Given the description of an element on the screen output the (x, y) to click on. 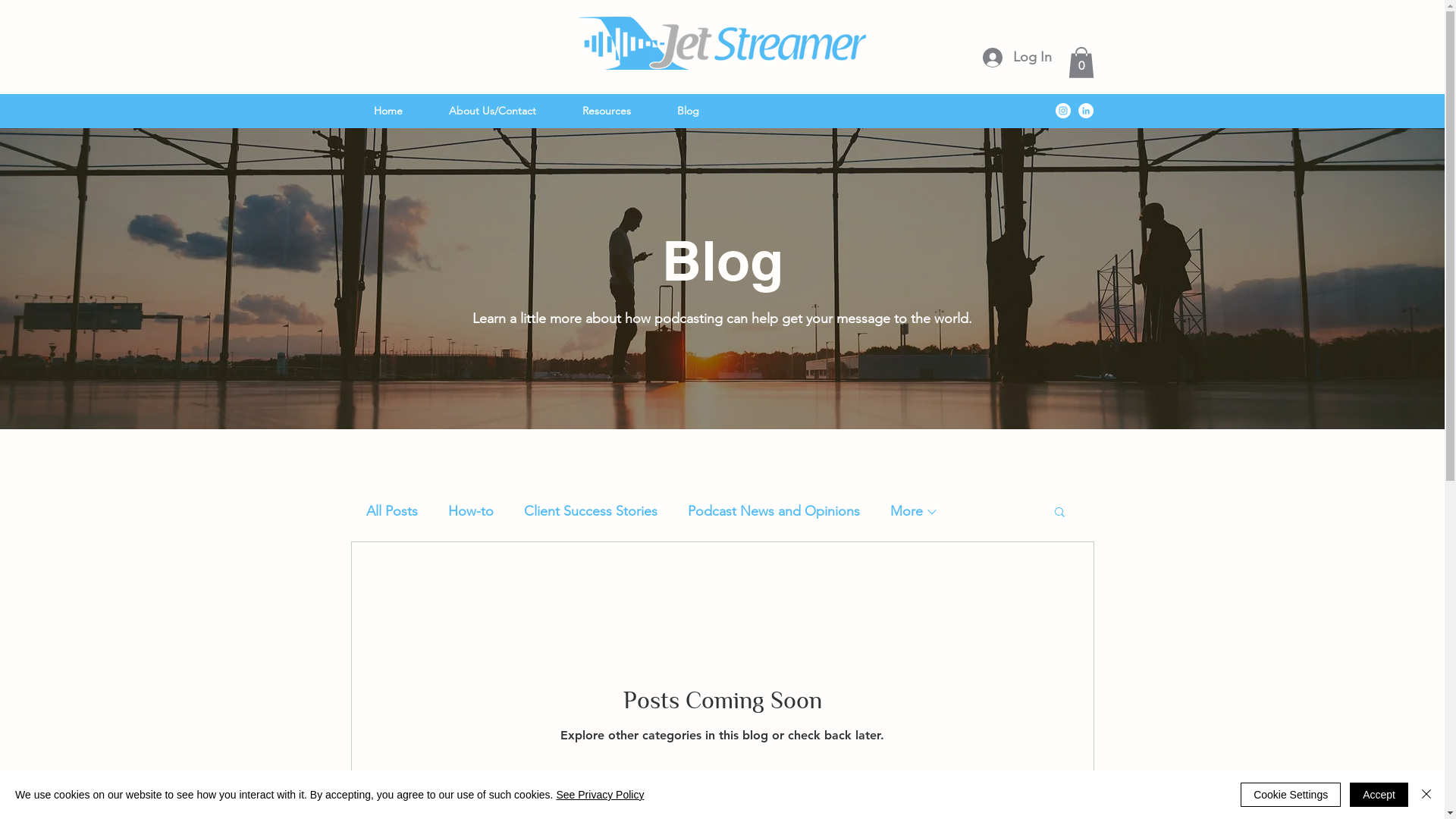
Podcast News and Opinions Element type: text (773, 510)
Home Element type: text (387, 110)
All Posts Element type: text (391, 510)
Cookie Settings Element type: text (1290, 794)
See Privacy Policy Element type: text (599, 794)
Blog Element type: text (687, 110)
Client Success Stories Element type: text (589, 510)
How-to Element type: text (469, 510)
0 Element type: text (1080, 62)
Accept Element type: text (1378, 794)
Log In Element type: text (1017, 57)
About Us/Contact Element type: text (492, 110)
